Given the description of an element on the screen output the (x, y) to click on. 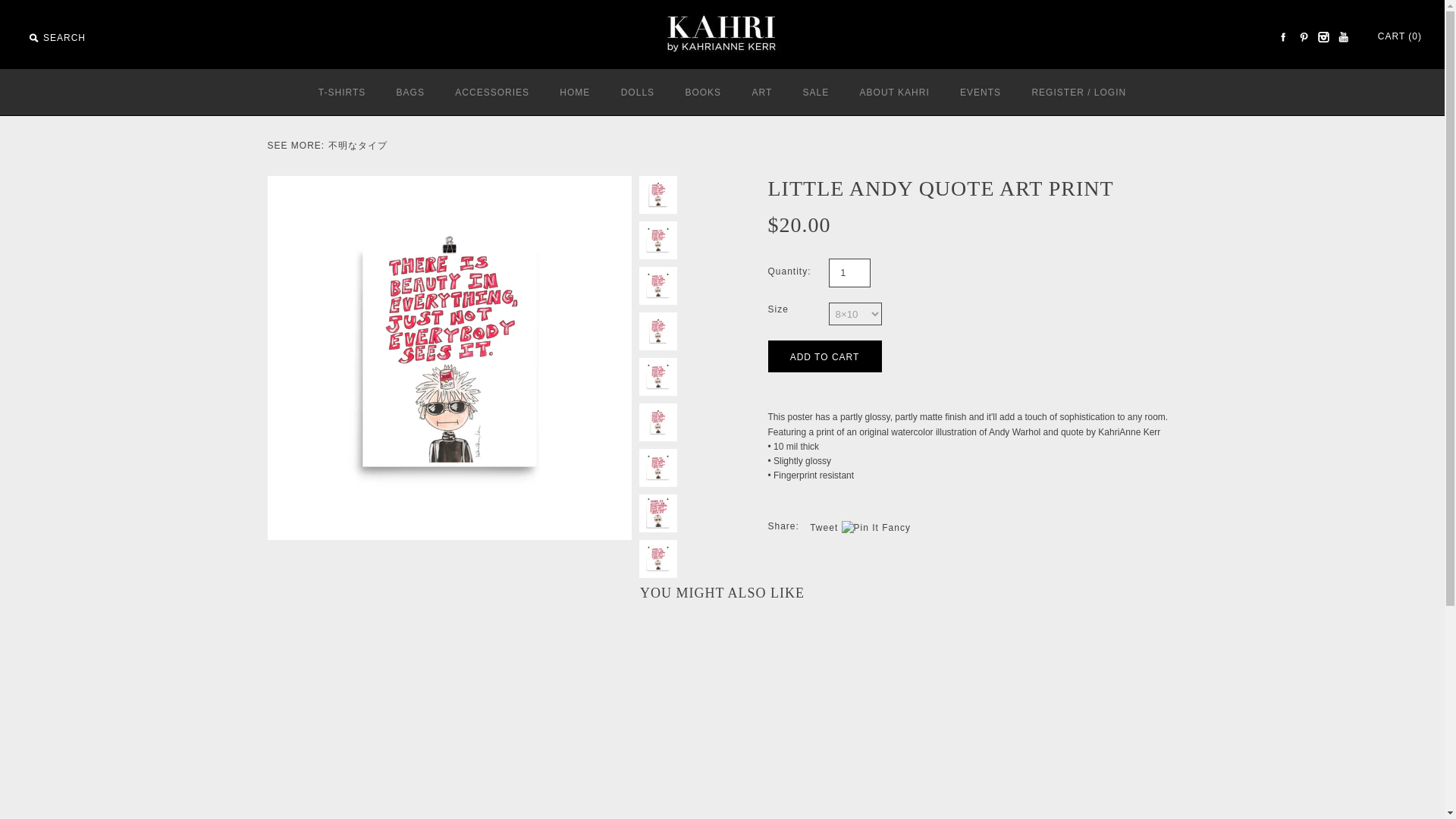
Facebook (1283, 36)
Little Andy Quote Art Print (658, 240)
Instagram (1323, 36)
Little Andy Quote Art Print (658, 331)
Little Andy Quote Art Print (658, 422)
ACCESSORIES (492, 92)
1 (848, 272)
Little Andy Quote Art Print (658, 467)
BOOKS (703, 92)
HOME (575, 92)
